Given the description of an element on the screen output the (x, y) to click on. 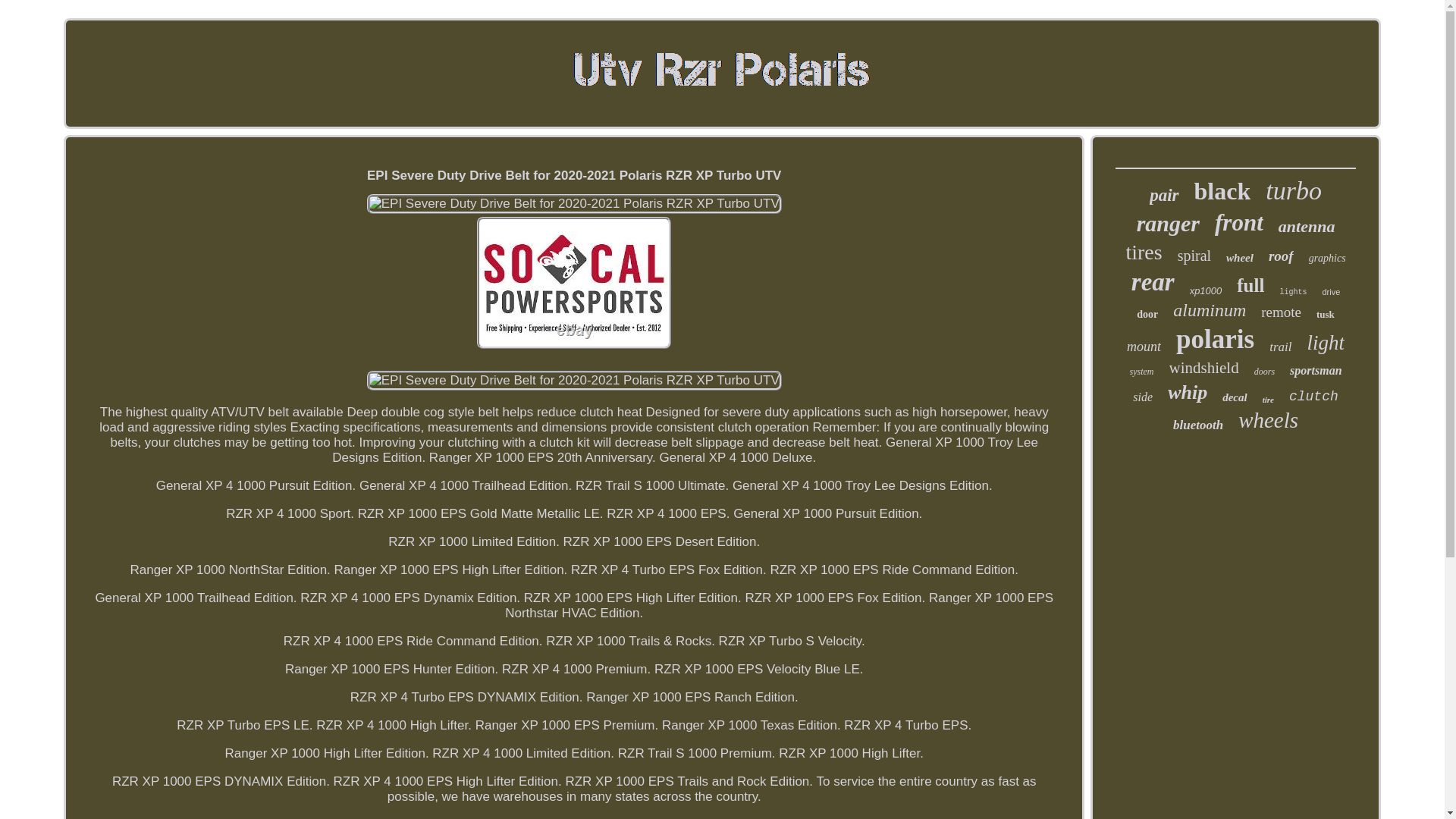
windshield (1204, 367)
door (1147, 314)
pair (1163, 195)
mount (1143, 346)
polaris (1214, 339)
turbo (1293, 190)
roof (1281, 256)
graphics (1326, 258)
trail (1280, 346)
light (1324, 342)
front (1238, 222)
system (1141, 371)
lights (1292, 292)
black (1221, 191)
